Given the description of an element on the screen output the (x, y) to click on. 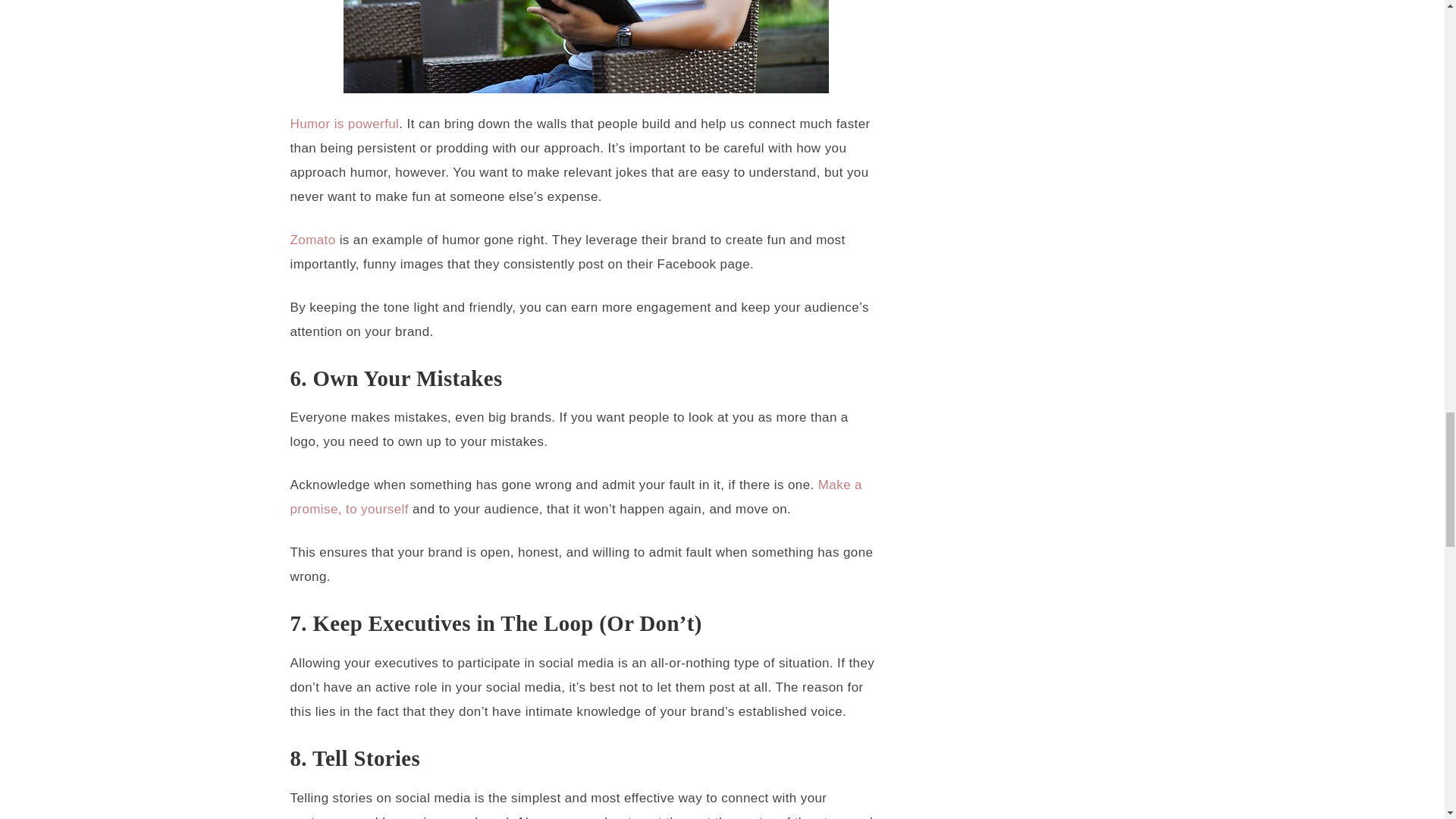
Make a promise, to yourself (575, 496)
Humor is powerful (343, 124)
Zomato (311, 239)
